Given the description of an element on the screen output the (x, y) to click on. 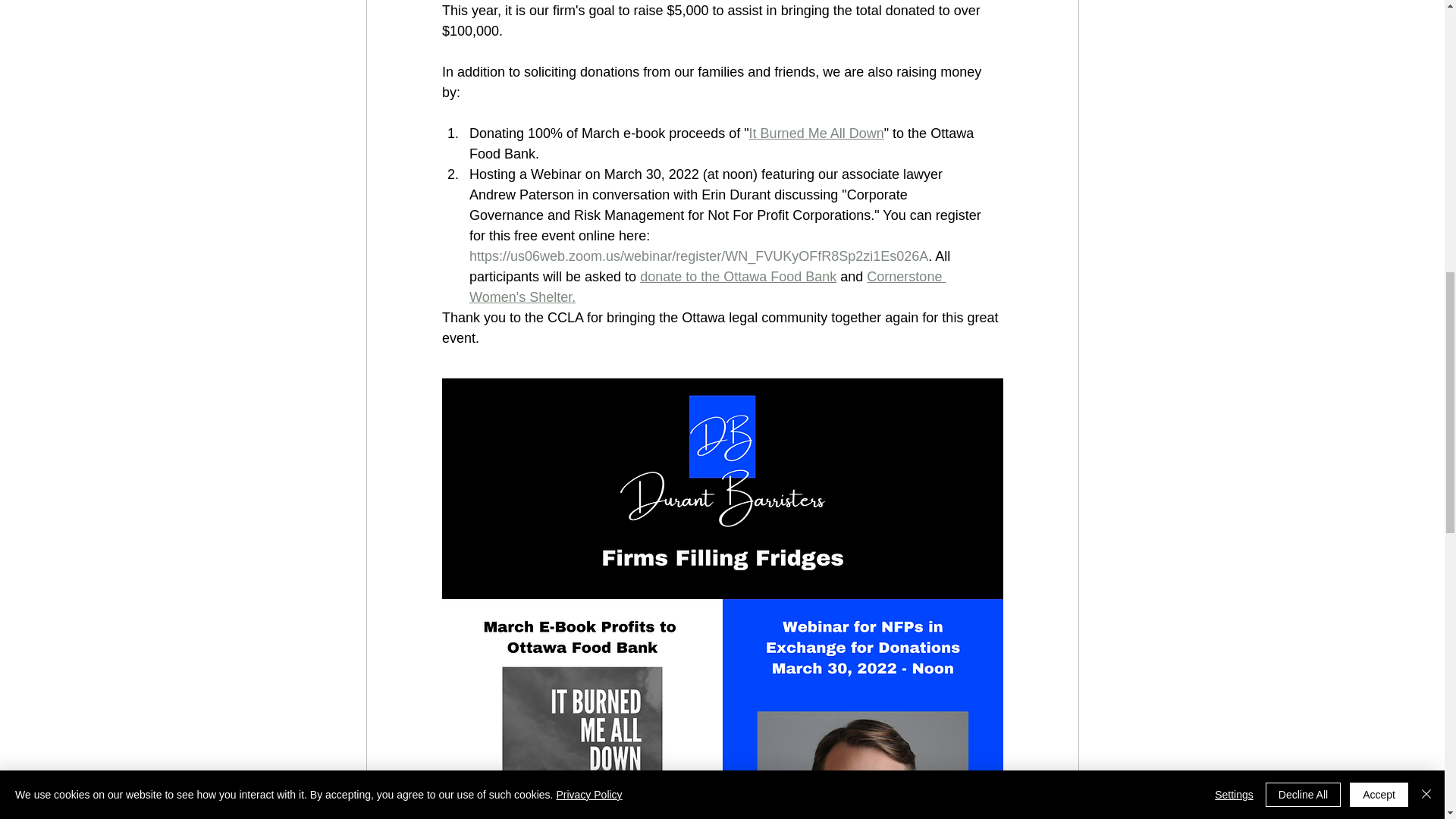
It Burned Me All Down (815, 133)
Cornerstone Women's Shelter. (706, 286)
donate to the Ottawa Food Bank (737, 276)
